Given the description of an element on the screen output the (x, y) to click on. 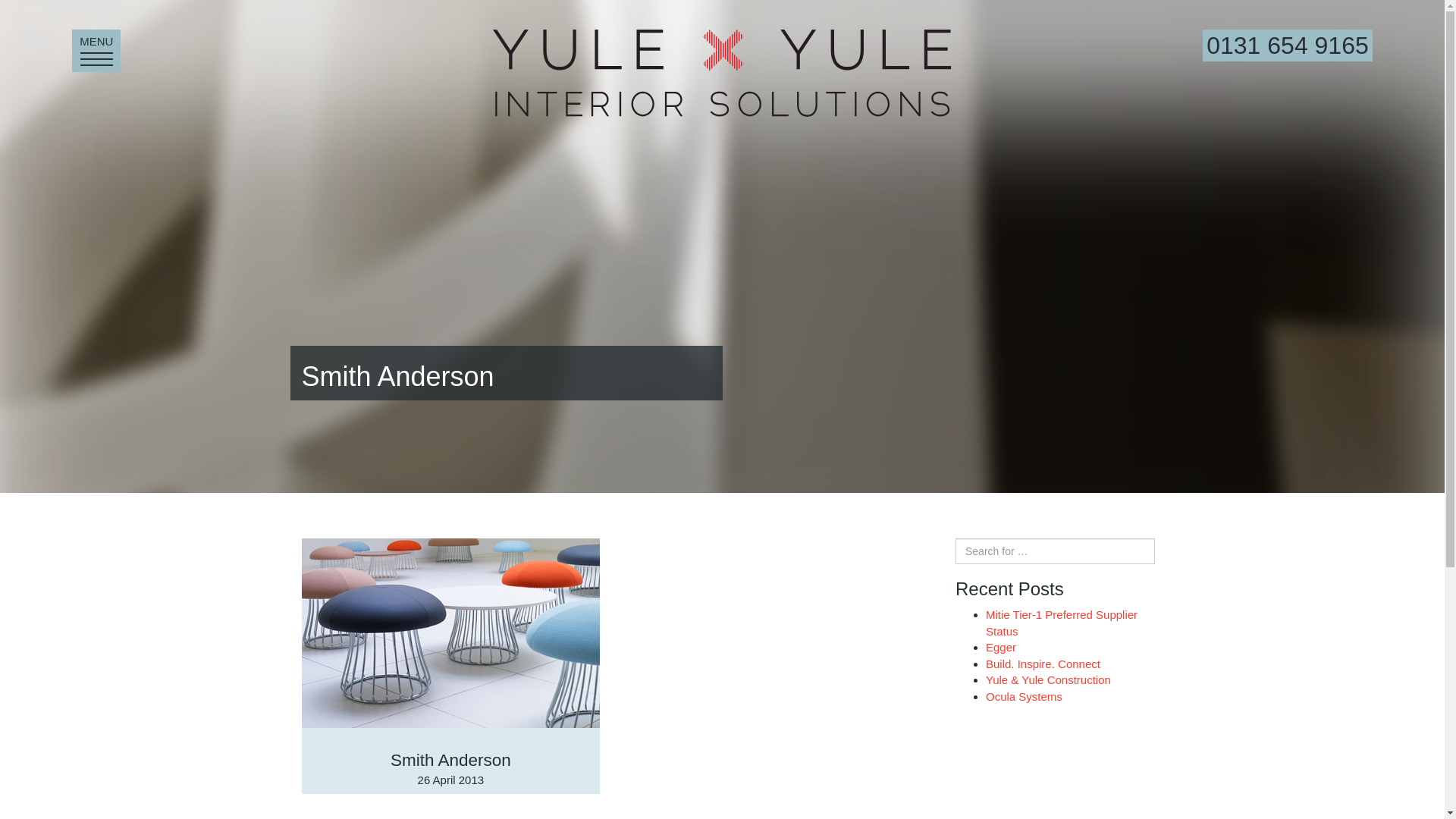
Mitie Tier-1 Preferred Supplier Status (1287, 49)
Egger (1061, 622)
Search (1000, 646)
Yule and Yule logo (26, 12)
Ocula Systems (721, 72)
Build. Inspire. Connect (1023, 696)
